Given the description of an element on the screen output the (x, y) to click on. 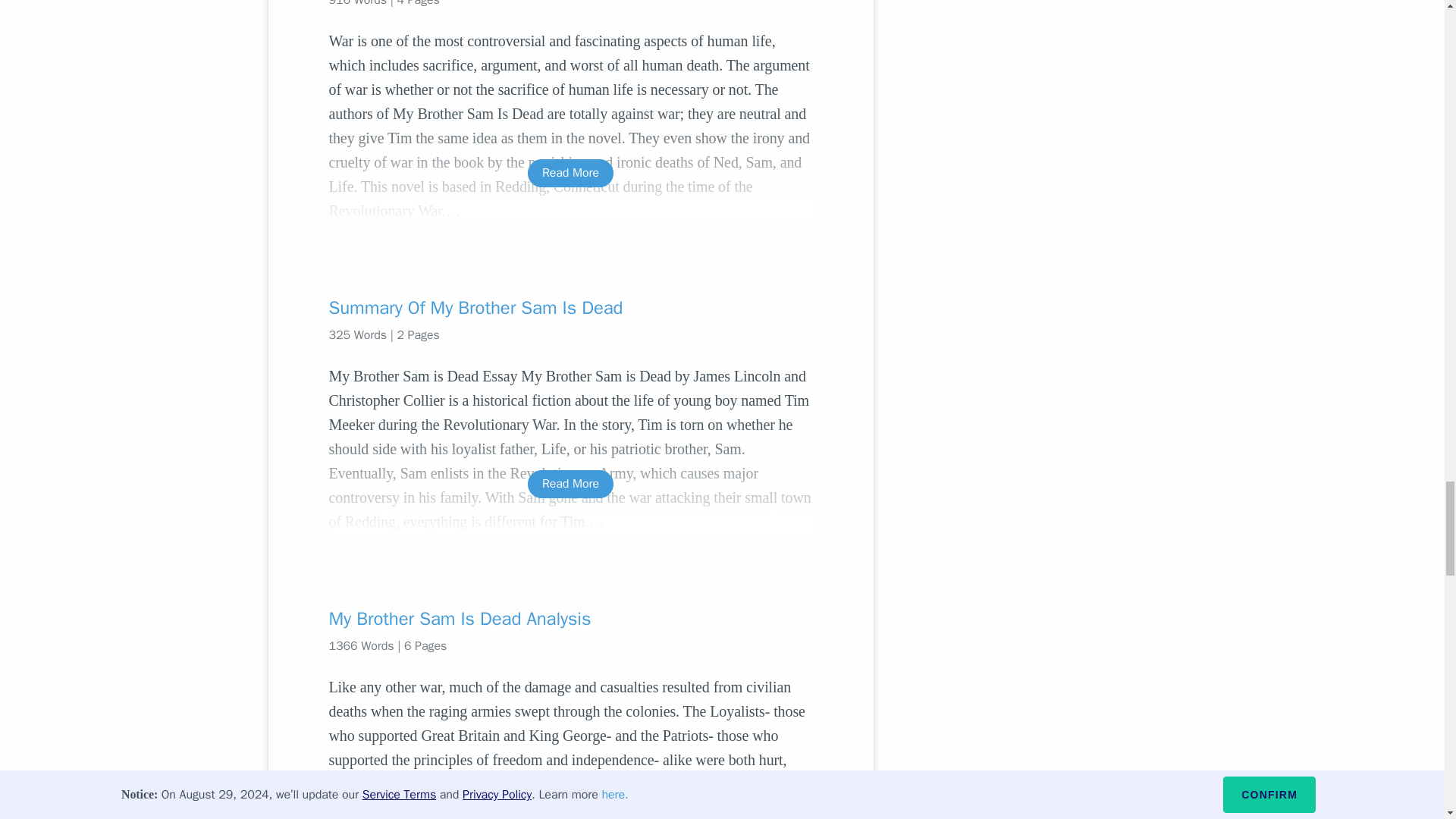
Read More (569, 172)
